Given the description of an element on the screen output the (x, y) to click on. 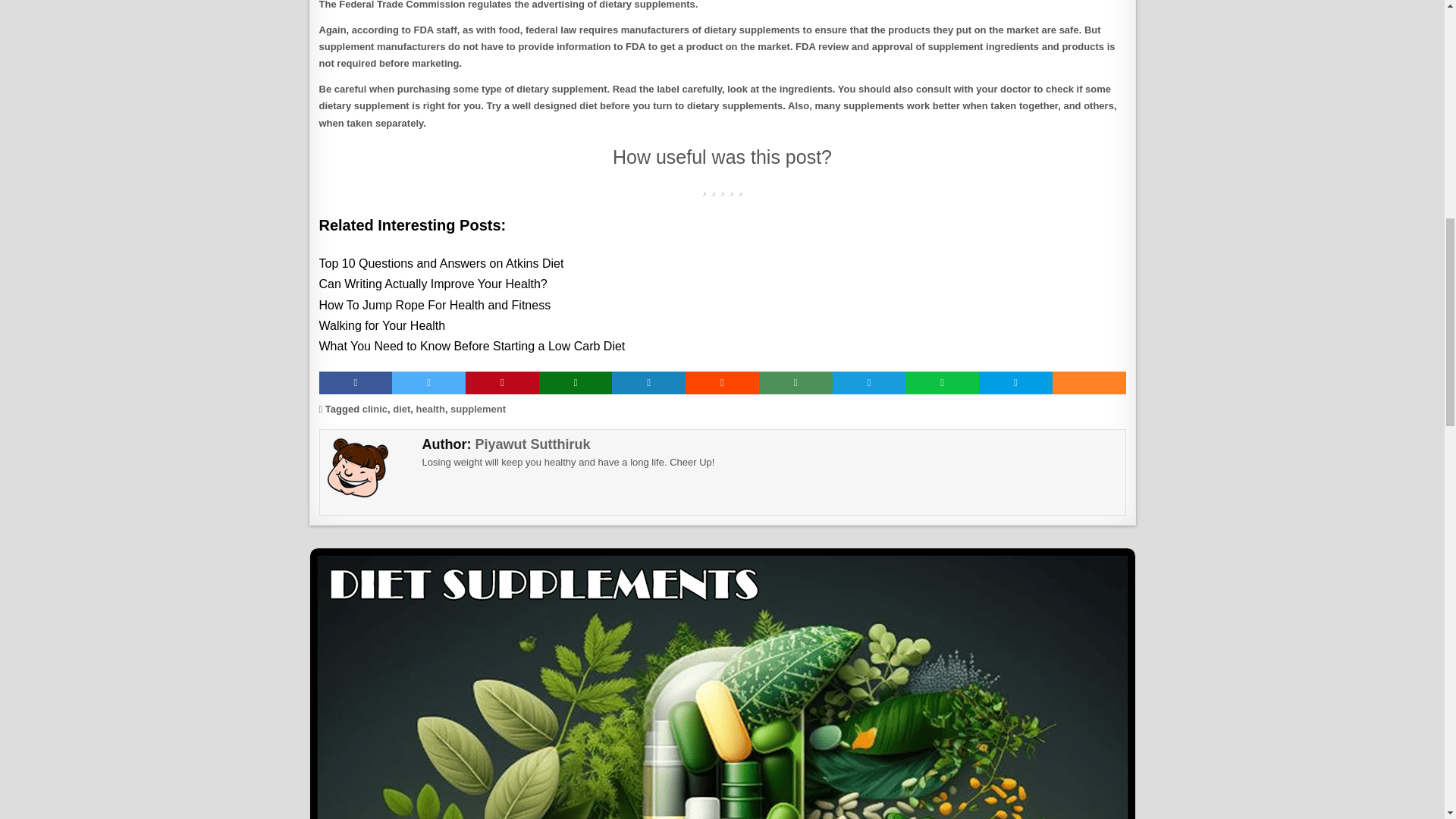
How To Jump Rope For Health and Fitness (721, 304)
What You Need to Know Before Starting a Low Carb Diet (721, 345)
Top 10 Questions and Answers on Atkins Diet (721, 263)
What You Need to Know Before Starting a Low Carb Diet (721, 345)
Can Writing Actually Improve Your Health? (721, 283)
Walking for Your Health (721, 325)
Can Writing Actually Improve Your Health? (721, 283)
How To Jump Rope For Health and Fitness (721, 304)
Top 10 Questions and Answers on Atkins Diet (721, 263)
Walking for Your Health (721, 325)
